Given the description of an element on the screen output the (x, y) to click on. 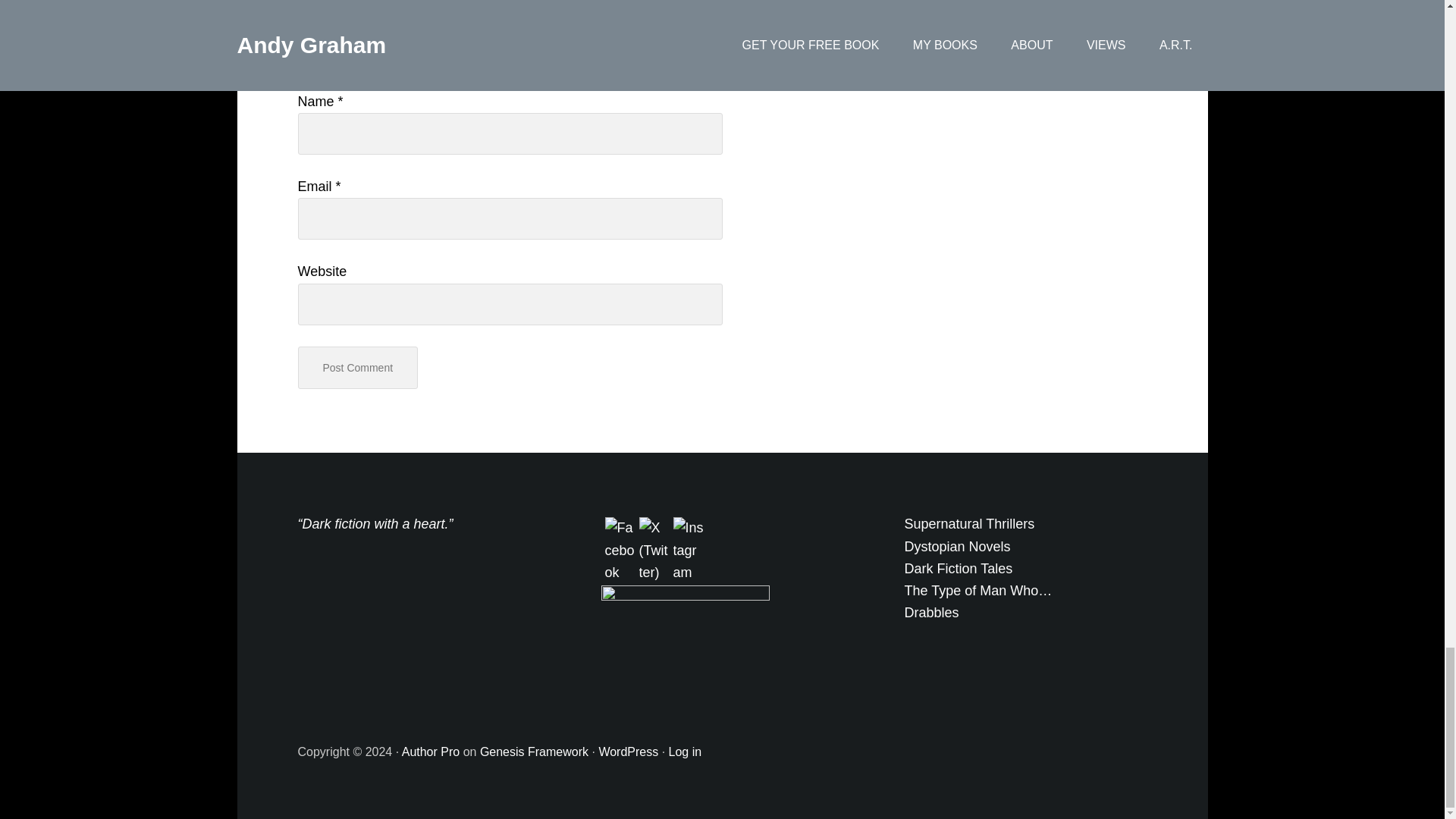
Instagram (687, 549)
Post Comment (357, 367)
Facebook (619, 549)
